Given the description of an element on the screen output the (x, y) to click on. 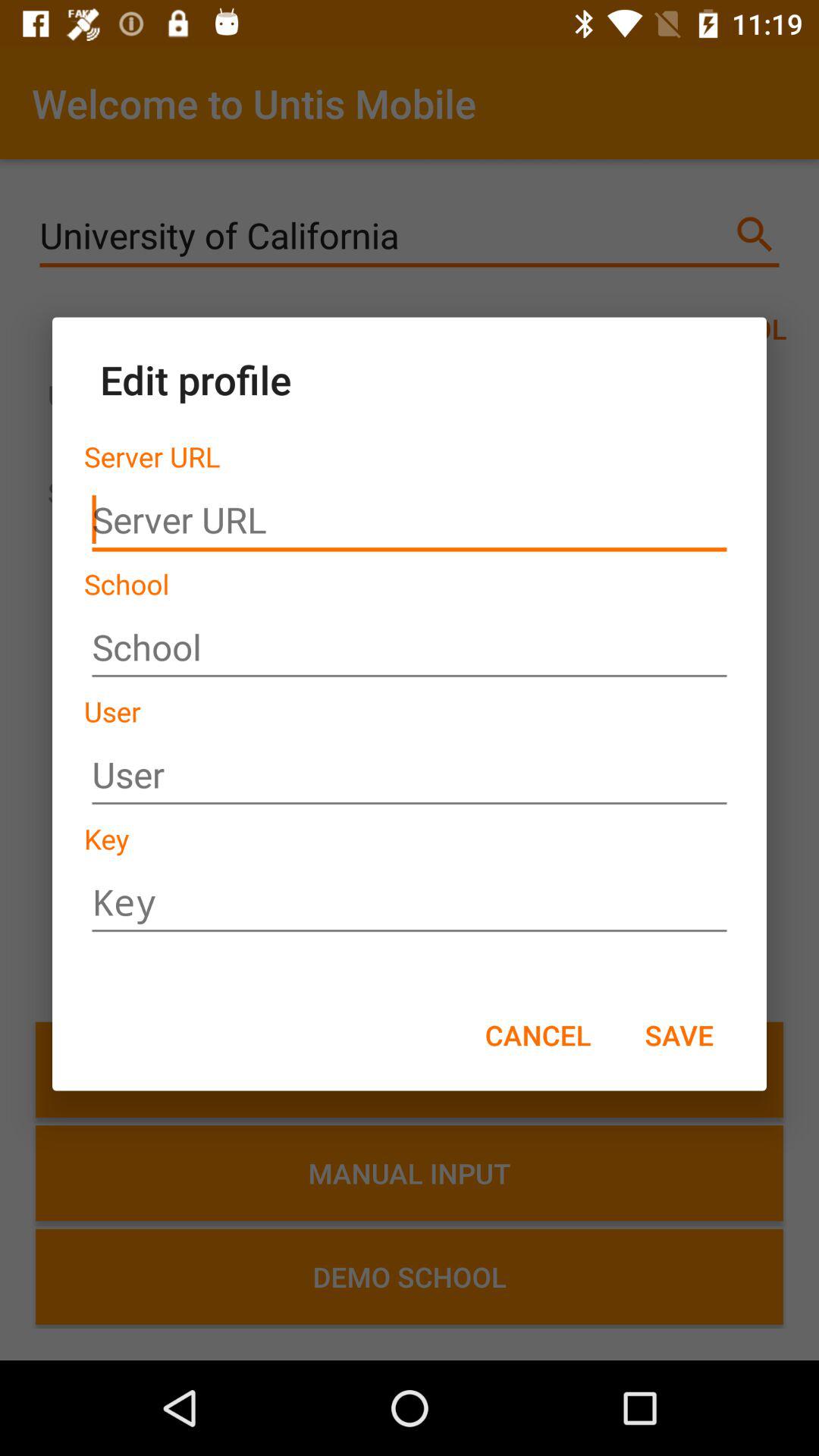
school name enter option (409, 647)
